Given the description of an element on the screen output the (x, y) to click on. 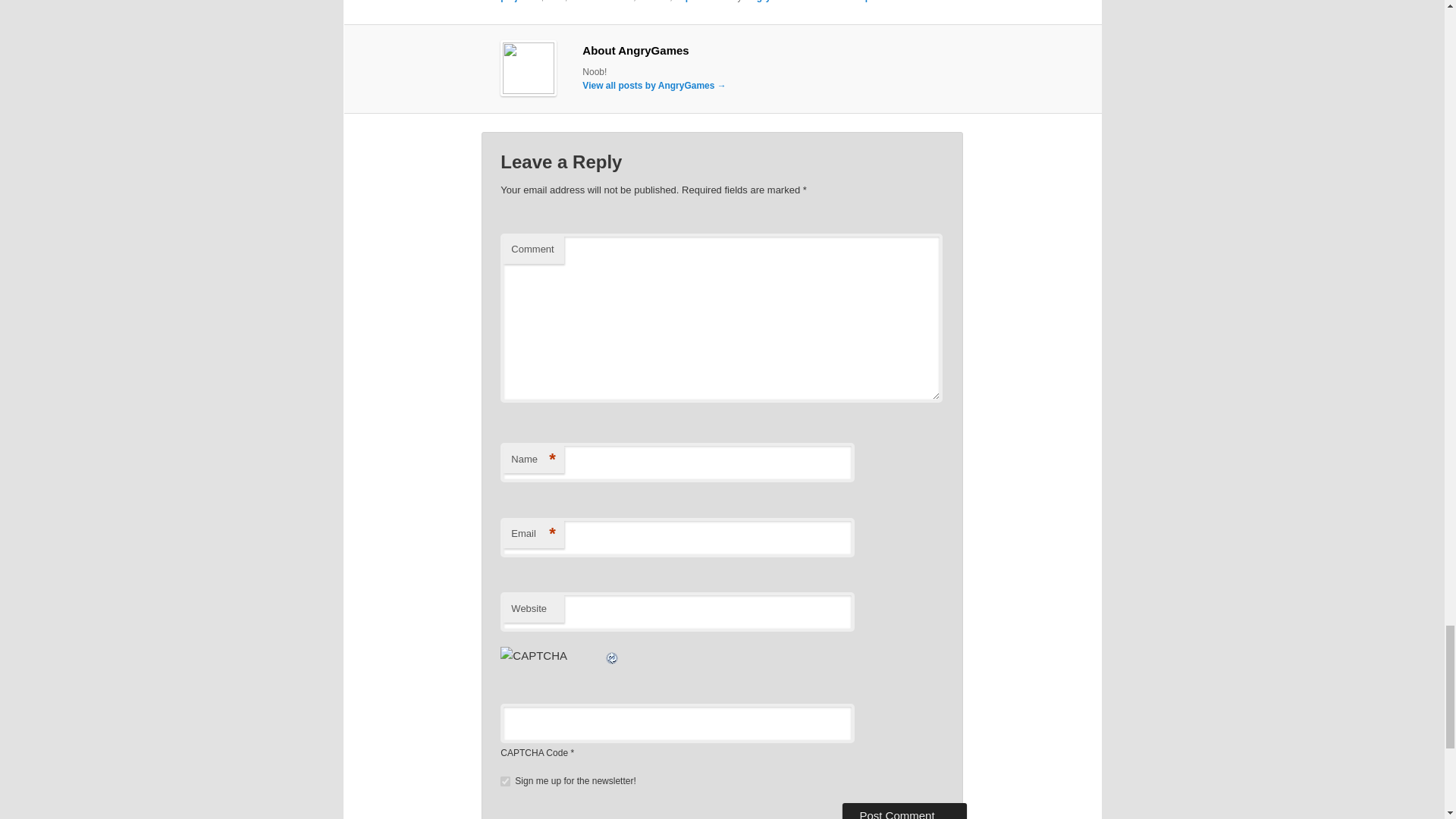
suicide (654, 1)
supernatural (702, 1)
CAPTCHA (552, 663)
Refresh (612, 655)
prejudice (520, 1)
Post Comment (904, 811)
1 (505, 781)
science fiction (601, 1)
Permalink to Exchange Rate: 5-Jeff (886, 1)
race (555, 1)
